Given the description of an element on the screen output the (x, y) to click on. 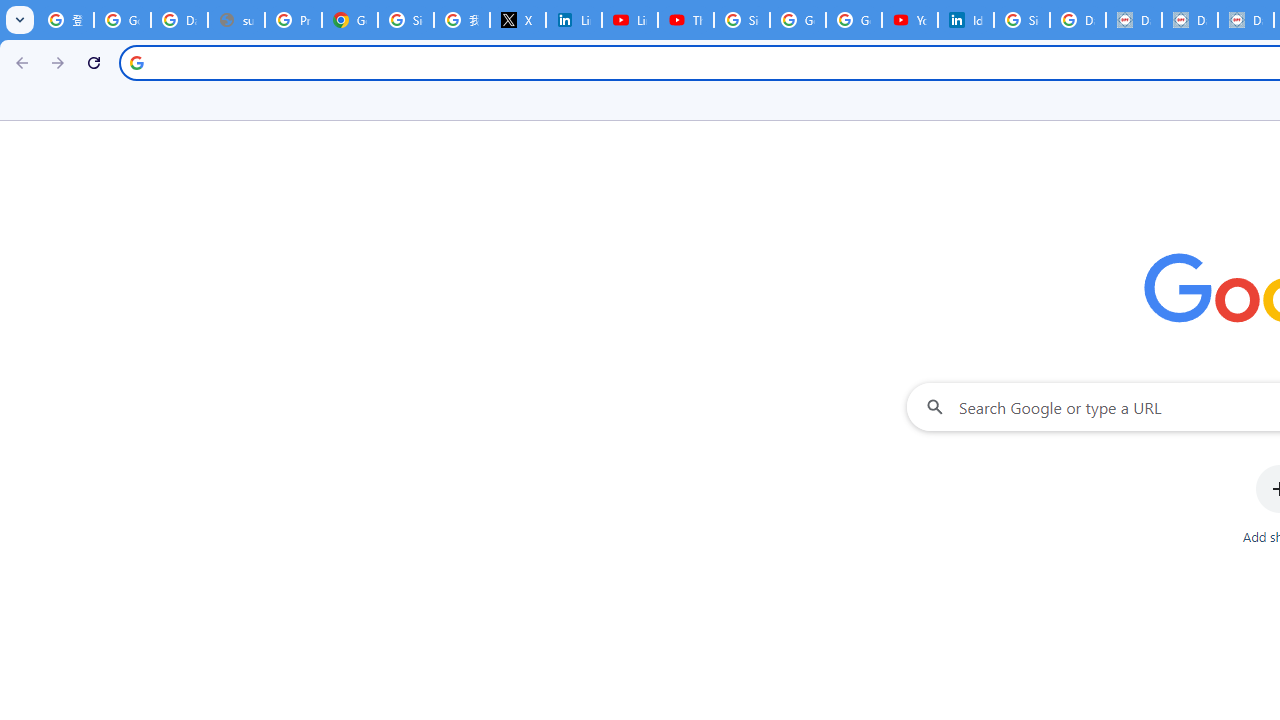
Privacy Help Center - Policies Help (293, 20)
X (518, 20)
Sign in - Google Accounts (742, 20)
Data Privacy Framework (1190, 20)
LinkedIn - YouTube (629, 20)
